Given the description of an element on the screen output the (x, y) to click on. 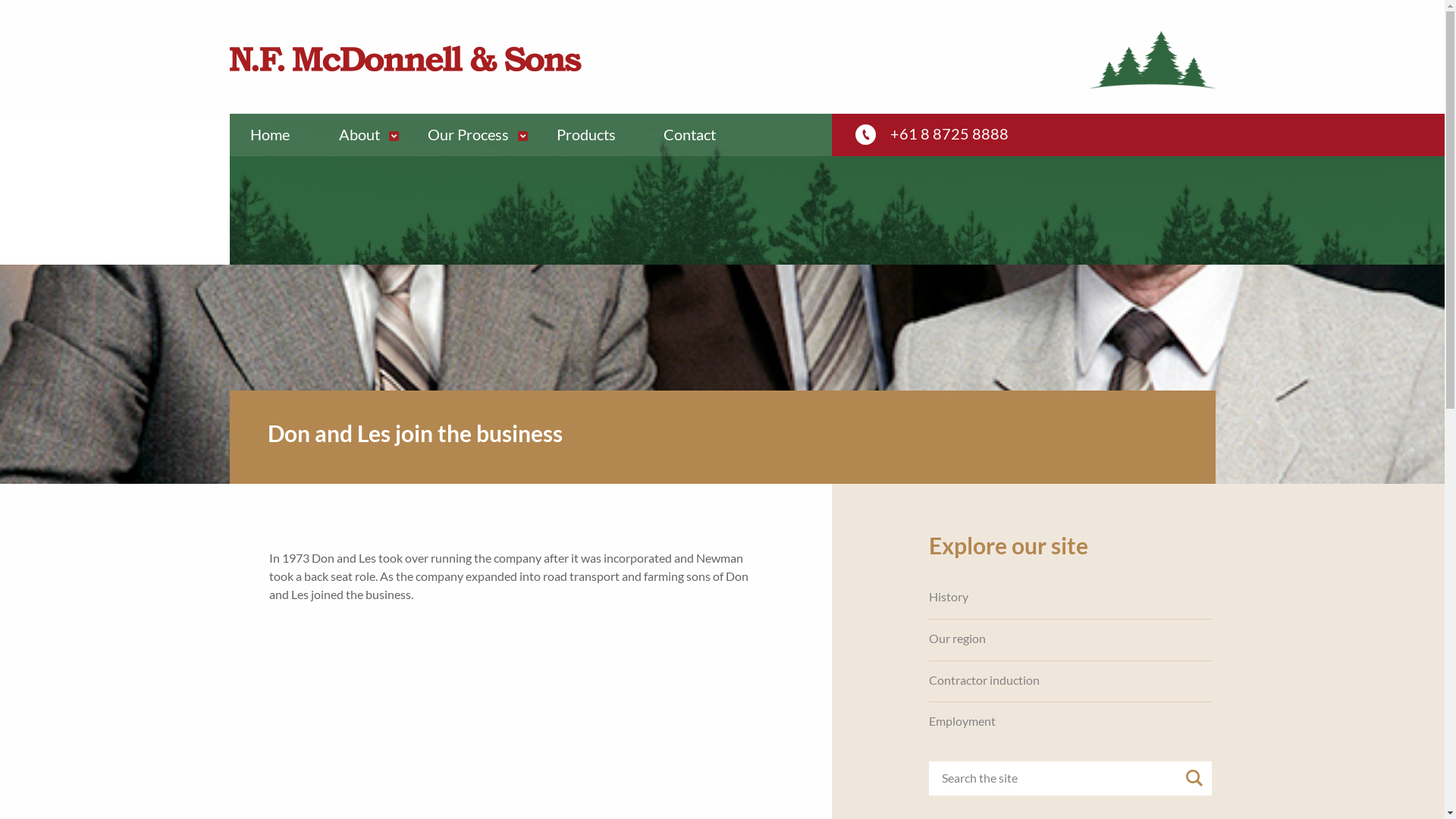
Products Element type: text (595, 134)
Our Process Element type: text (478, 134)
History Element type: text (948, 596)
Home Element type: text (276, 134)
+61 8 8725 8888 Element type: text (949, 133)
N.F. McDonnell & Sons Element type: hover (404, 58)
Our region Element type: text (956, 638)
Contact Element type: text (699, 134)
Employment Element type: text (961, 721)
Contractor induction Element type: text (983, 680)
About Element type: text (368, 134)
